Given the description of an element on the screen output the (x, y) to click on. 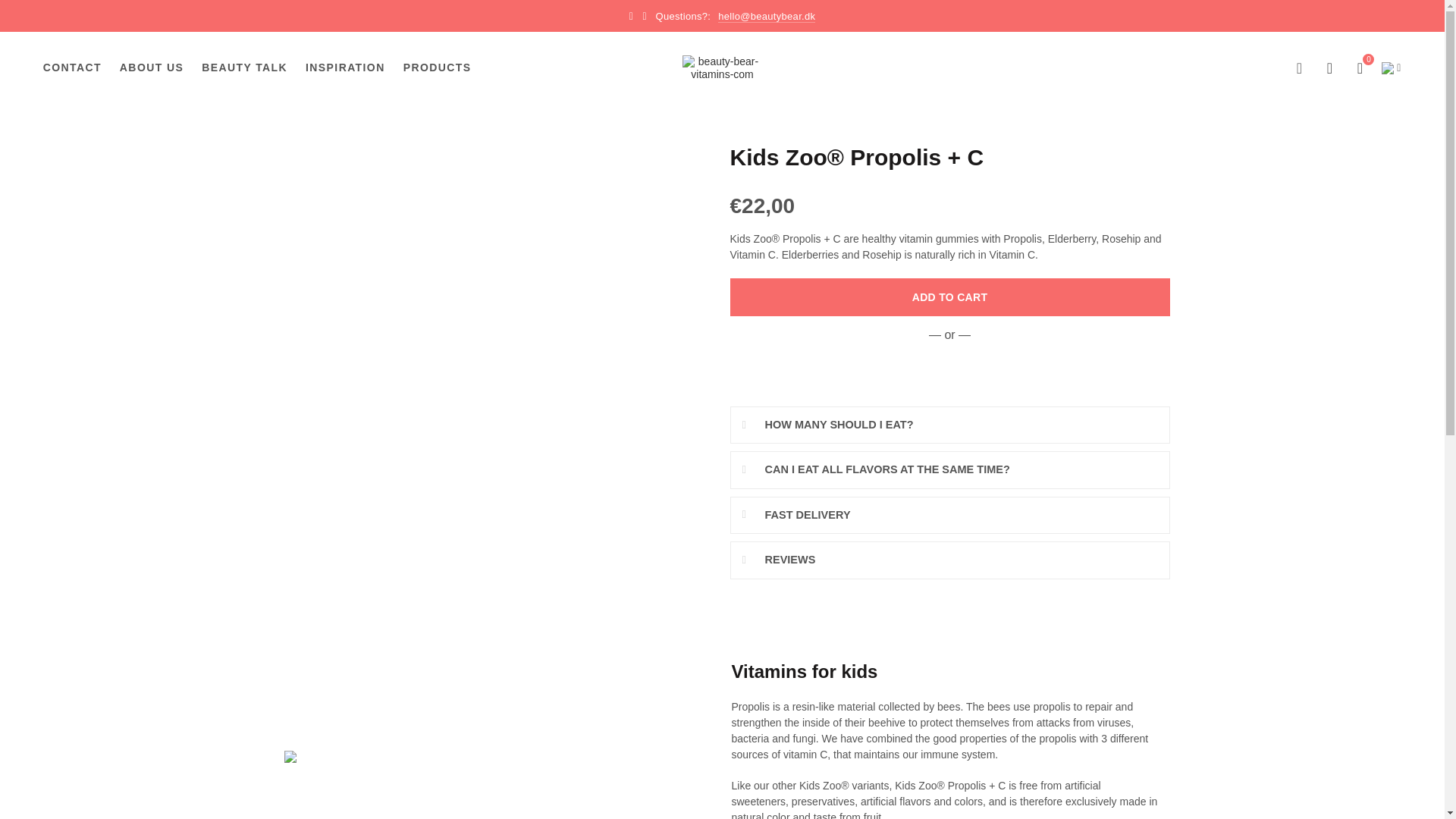
ABOUT US (151, 67)
0 (1361, 67)
CONTACT (72, 67)
HOW MANY SHOULD I EAT? (949, 424)
ADD TO CART (949, 297)
INSPIRATION (344, 67)
BEAUTY TALK (244, 67)
PRODUCTS (437, 67)
